Given the description of an element on the screen output the (x, y) to click on. 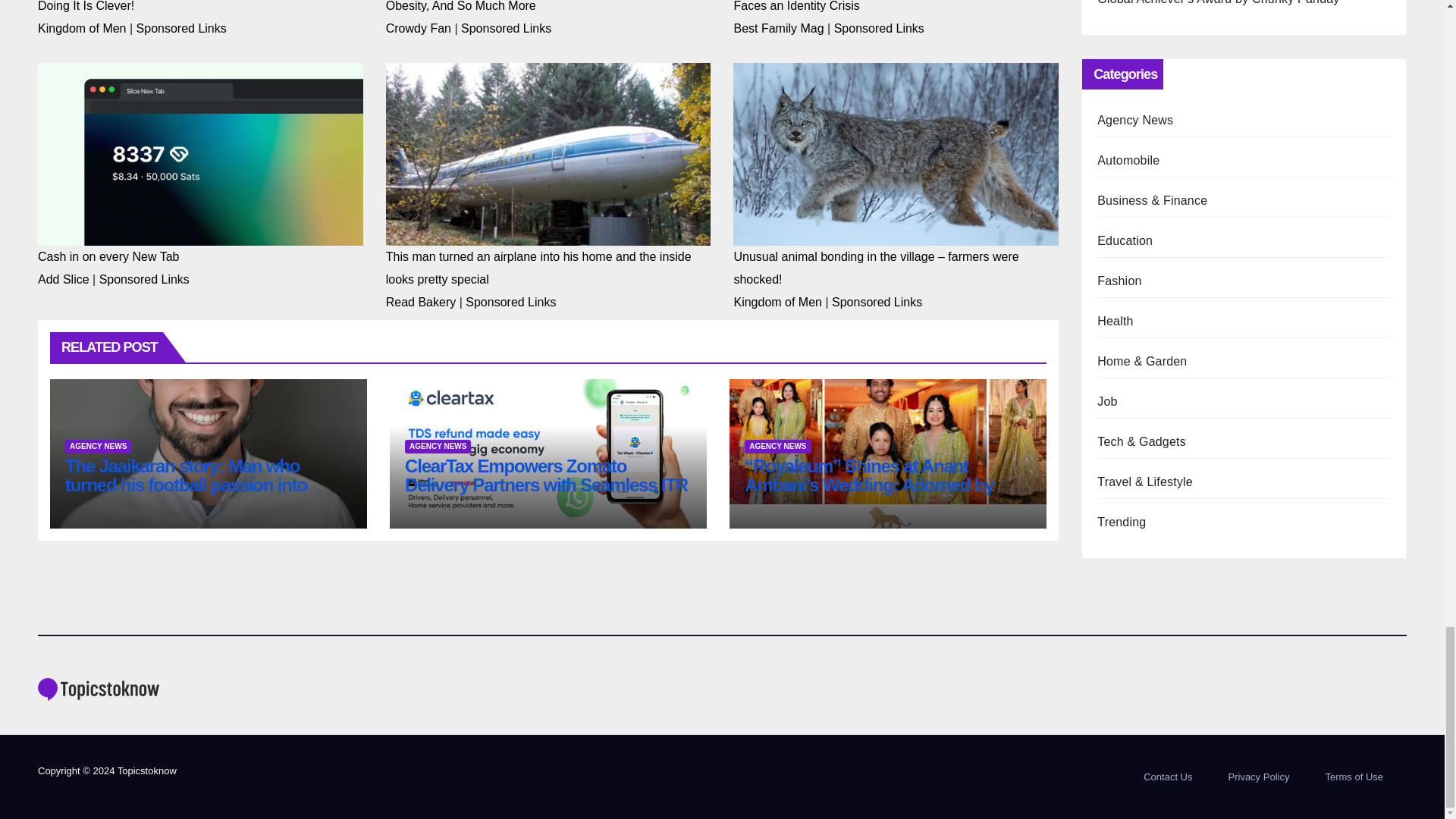
Sponsored Links (181, 28)
Kingdom of Men (81, 28)
Contact Us (1167, 776)
Crowdy Fan (418, 28)
Sponsored Links (506, 28)
Best Family Mag (778, 28)
Sponsored Links (879, 28)
